Given the description of an element on the screen output the (x, y) to click on. 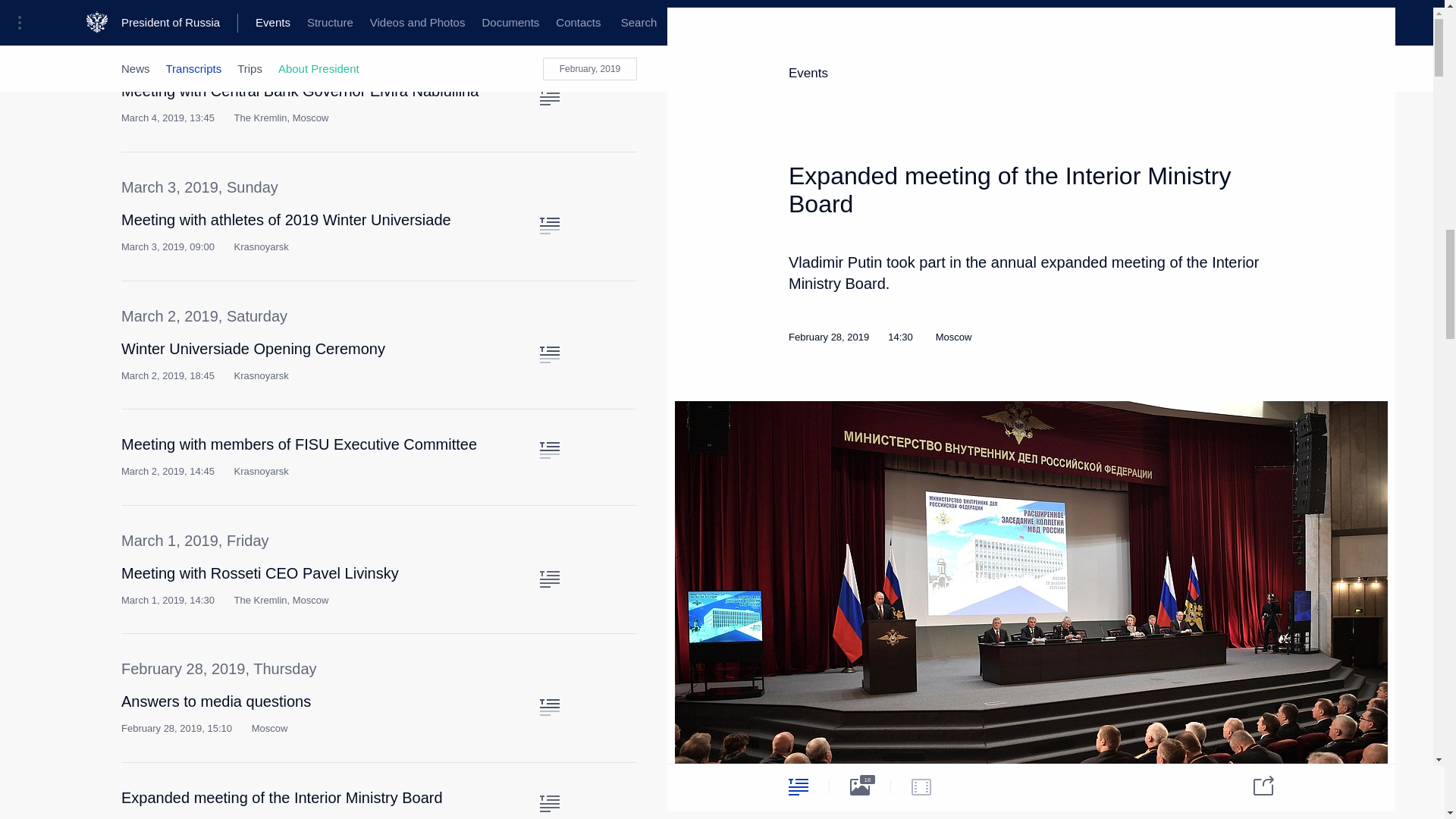
Text of the article (549, 225)
Text of the article (549, 354)
Text of the article (549, 579)
Text of the article (549, 450)
Text of the article (549, 96)
